Given the description of an element on the screen output the (x, y) to click on. 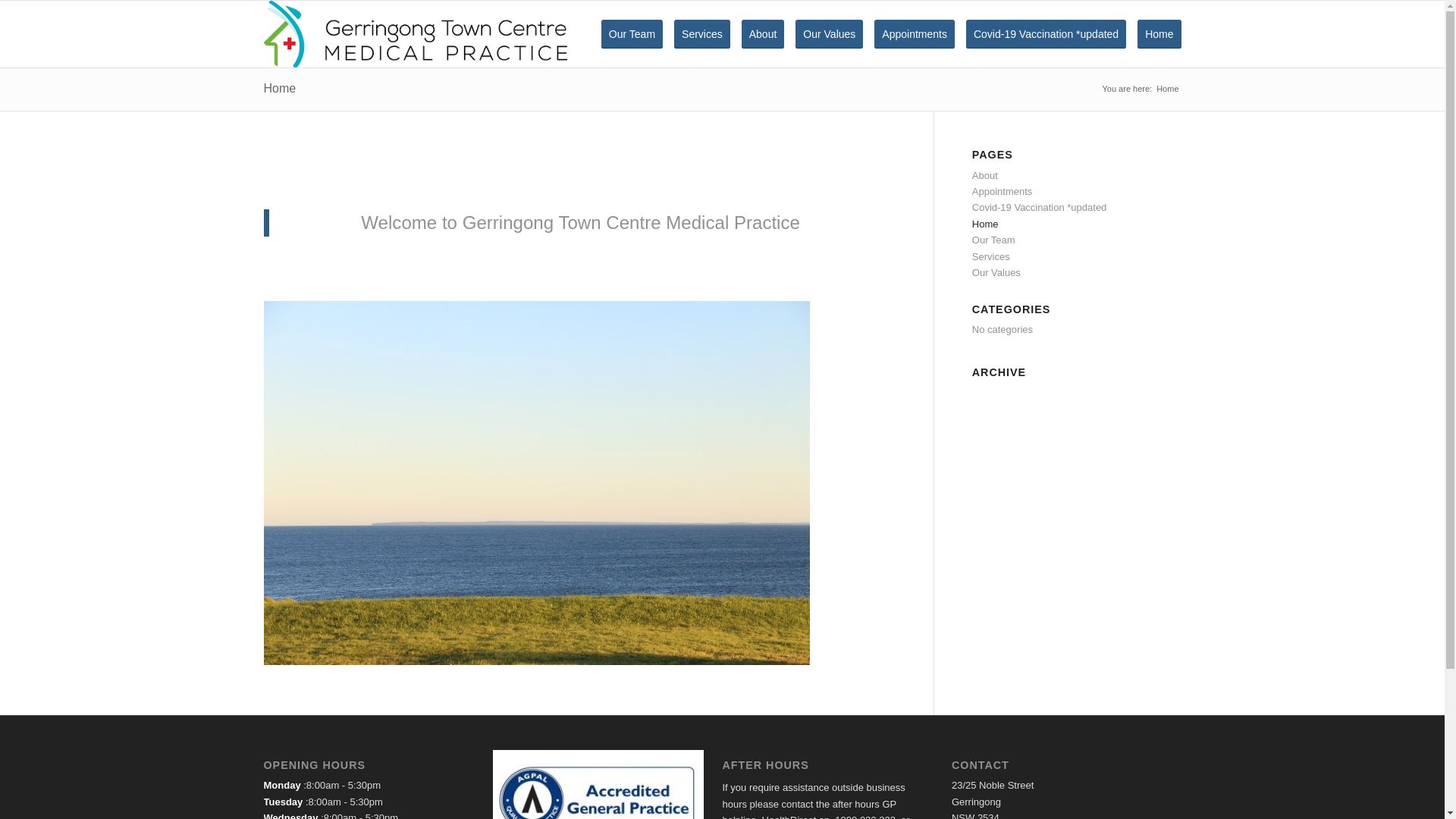
Appointments Element type: text (923, 33)
Home Element type: text (985, 223)
Our Values Element type: text (838, 33)
Our Values Element type: text (996, 272)
Home Element type: text (279, 87)
Covid-19 Vaccination *updated Element type: text (1039, 207)
About Element type: text (772, 33)
Our Team Element type: text (993, 239)
Services Element type: text (991, 256)
Appointments Element type: text (1002, 191)
Services Element type: text (711, 33)
Covid-19 Vaccination *updated Element type: text (1055, 33)
Home Element type: text (1158, 33)
About Element type: text (984, 175)
Our Team Element type: text (631, 33)
